Given the description of an element on the screen output the (x, y) to click on. 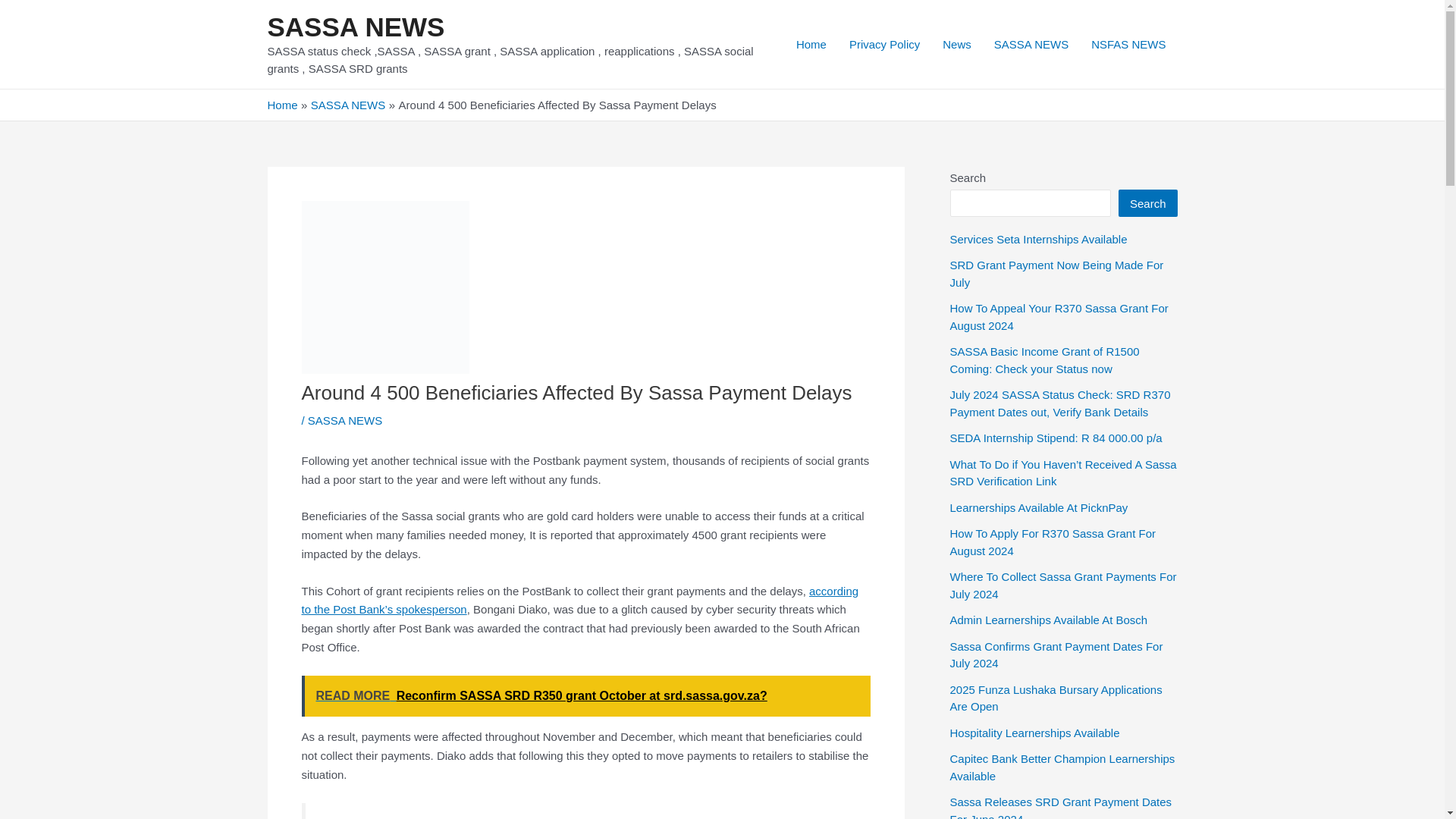
SASSA NEWS (1031, 43)
Where To Collect Sassa Grant Payments For July 2024 (1062, 585)
SASSA NEWS (348, 104)
SASSA NEWS (355, 26)
SRD Grant Payment Now Being Made For July (1056, 273)
Privacy Policy (884, 43)
Services Seta Internships Available (1037, 238)
SASSA NEWS (344, 420)
Sassa Confirms Grant Payment Dates For July 2024 (1055, 654)
Learnerships Available At PicknPay (1037, 507)
How To Apply For R370 Sassa Grant For August 2024 (1052, 542)
How To Appeal Your R370 Sassa Grant For August 2024 (1058, 317)
Home (281, 104)
Admin Learnerships Available At Bosch (1048, 619)
